Given the description of an element on the screen output the (x, y) to click on. 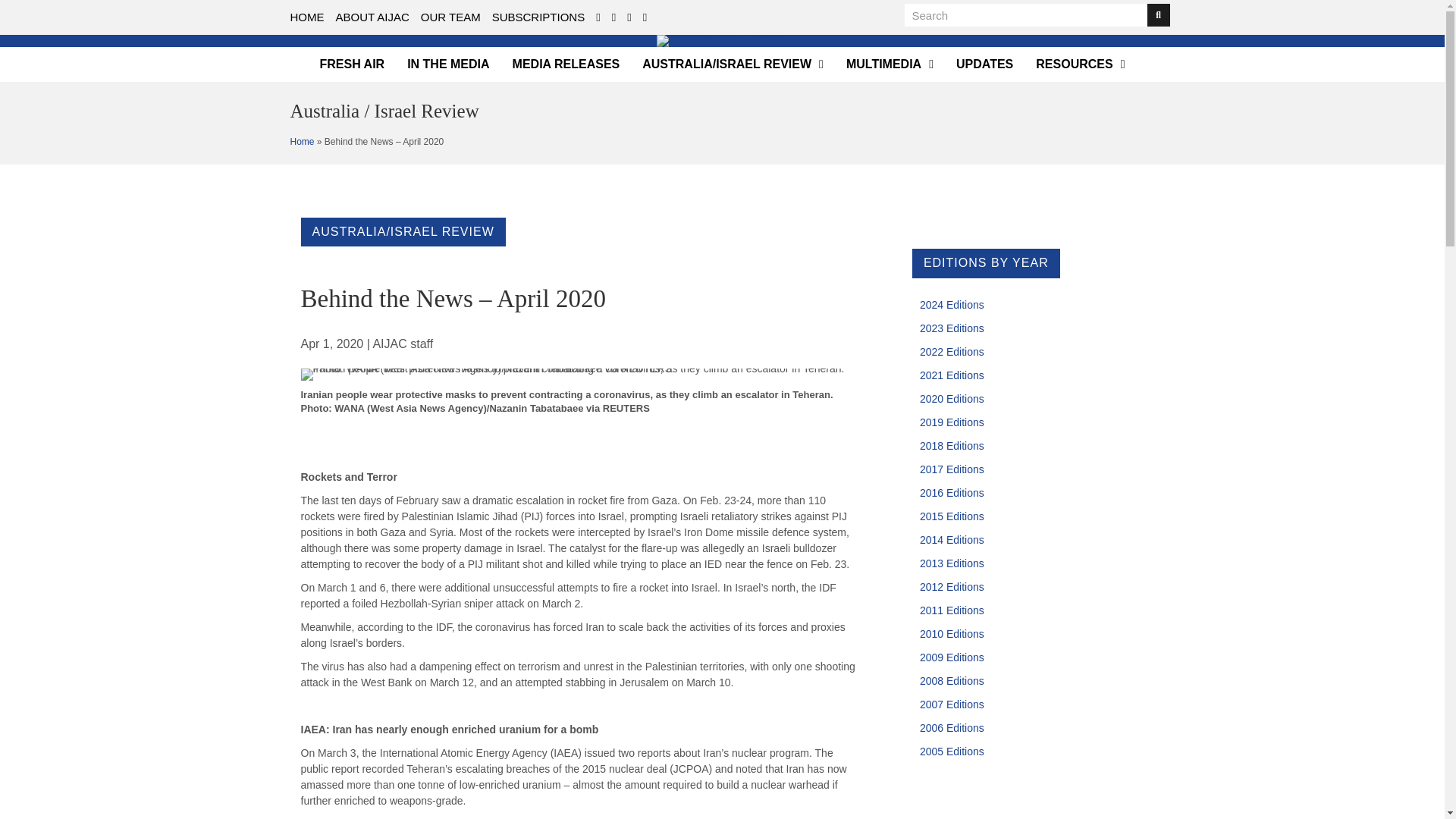
Search (1025, 15)
Aijac Logo Blue White 3a (721, 40)
OUR TEAM (450, 17)
FRESH AIR (353, 63)
HOME (306, 17)
IN THE MEDIA (447, 63)
MEDIA RELEASES (566, 63)
SUBSCRIPTIONS (538, 17)
ABOUT AIJAC (371, 17)
